Given the description of an element on the screen output the (x, y) to click on. 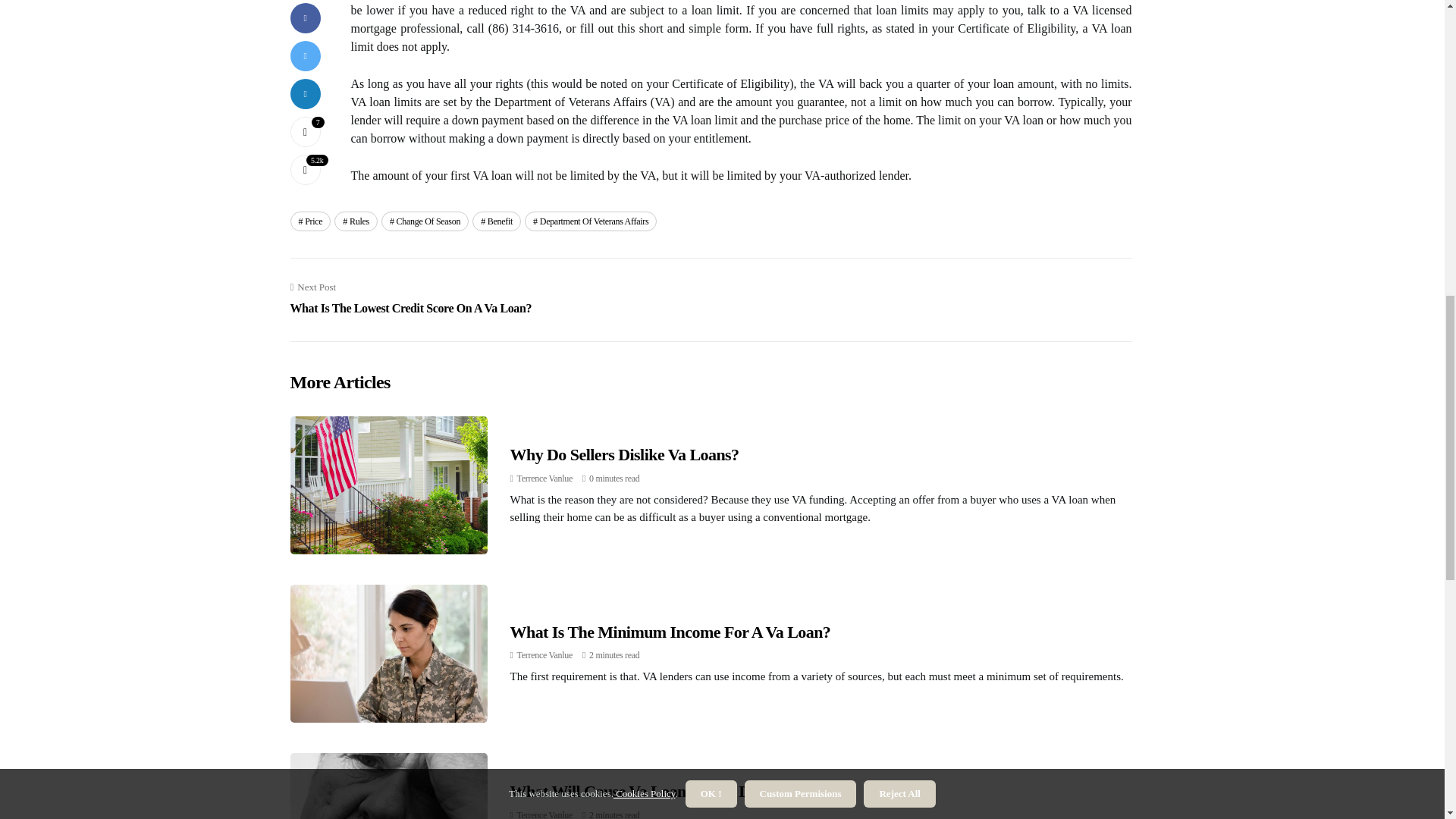
Terrence Vanlue (544, 814)
Why Do Sellers Dislike Va Loans? (623, 454)
What Will Cause Va Loan To Get Disapproved? (670, 791)
What Is The Minimum Income For A Va Loan? (669, 631)
Posts by Terrence Vanlue (544, 655)
Posts by Terrence Vanlue (544, 478)
Terrence Vanlue (544, 655)
Posts by Terrence Vanlue (544, 814)
Terrence Vanlue (544, 478)
Benefit (496, 220)
Rules (355, 220)
Change Of Season (410, 298)
Department Of Veterans Affairs (424, 220)
Price (590, 220)
